Given the description of an element on the screen output the (x, y) to click on. 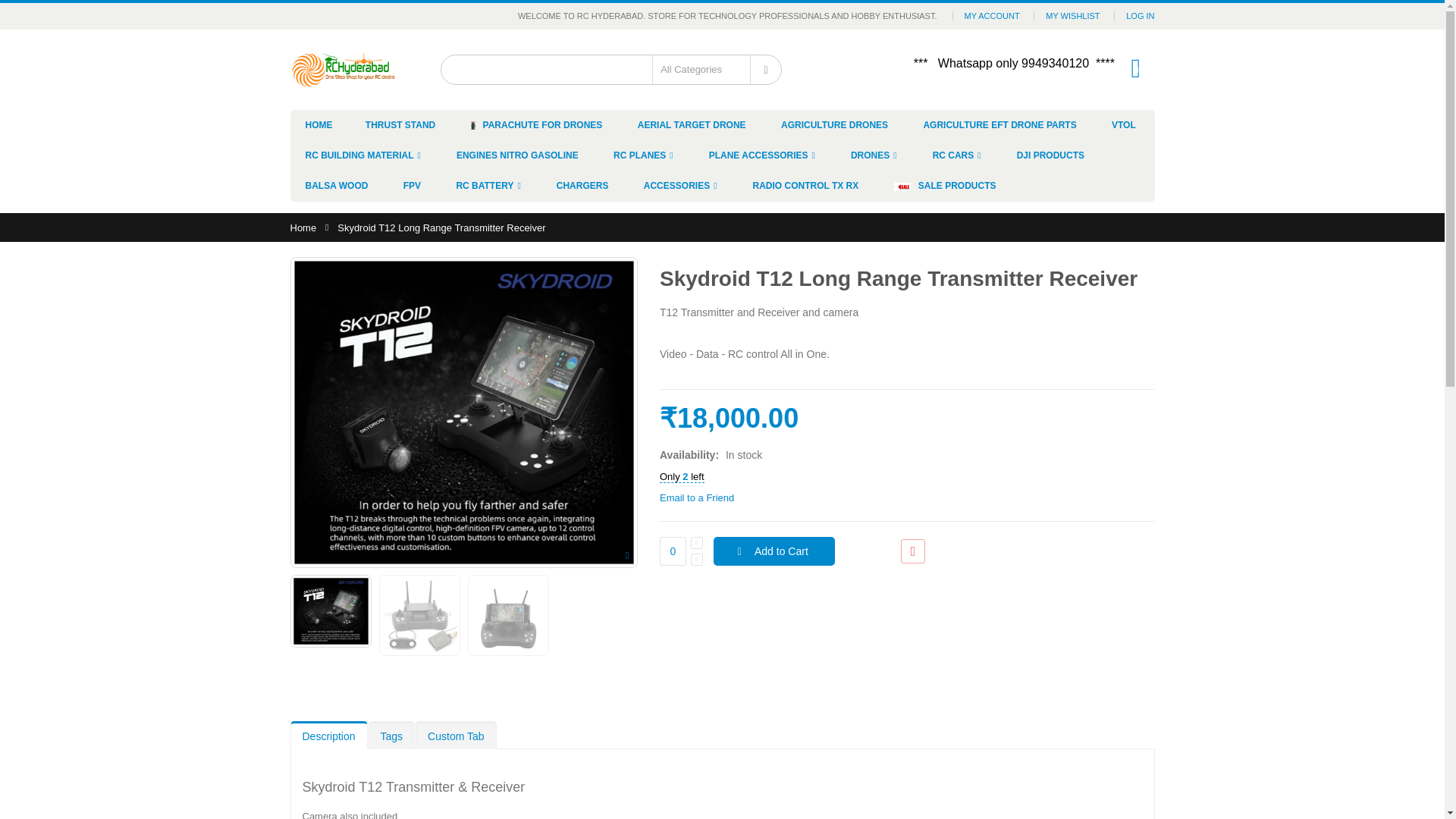
LOG IN (1139, 15)
SkyDroid T12 (330, 611)
PLANE ACCESSORIES (762, 155)
Qty (672, 551)
PARACHUTE FOR DRONES (536, 124)
HOME (318, 124)
0 (672, 551)
0 (1136, 67)
MY ACCOUNT (991, 15)
Log In (1139, 15)
My Account (991, 15)
Hobby Store (343, 69)
VTOL (1123, 124)
Contact (765, 69)
RC PLANES (643, 155)
